Given the description of an element on the screen output the (x, y) to click on. 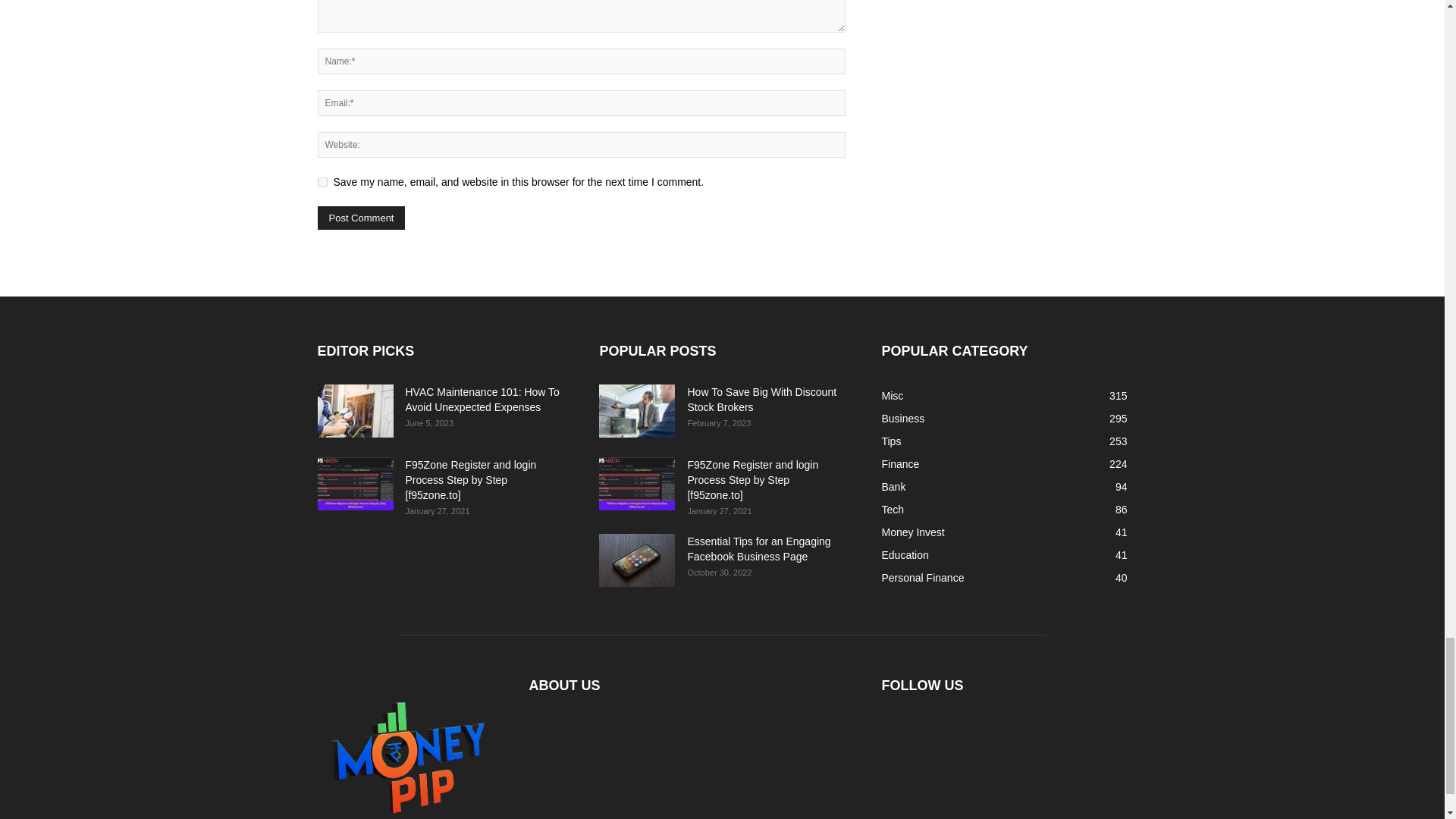
Post Comment (360, 218)
yes (321, 182)
